Given the description of an element on the screen output the (x, y) to click on. 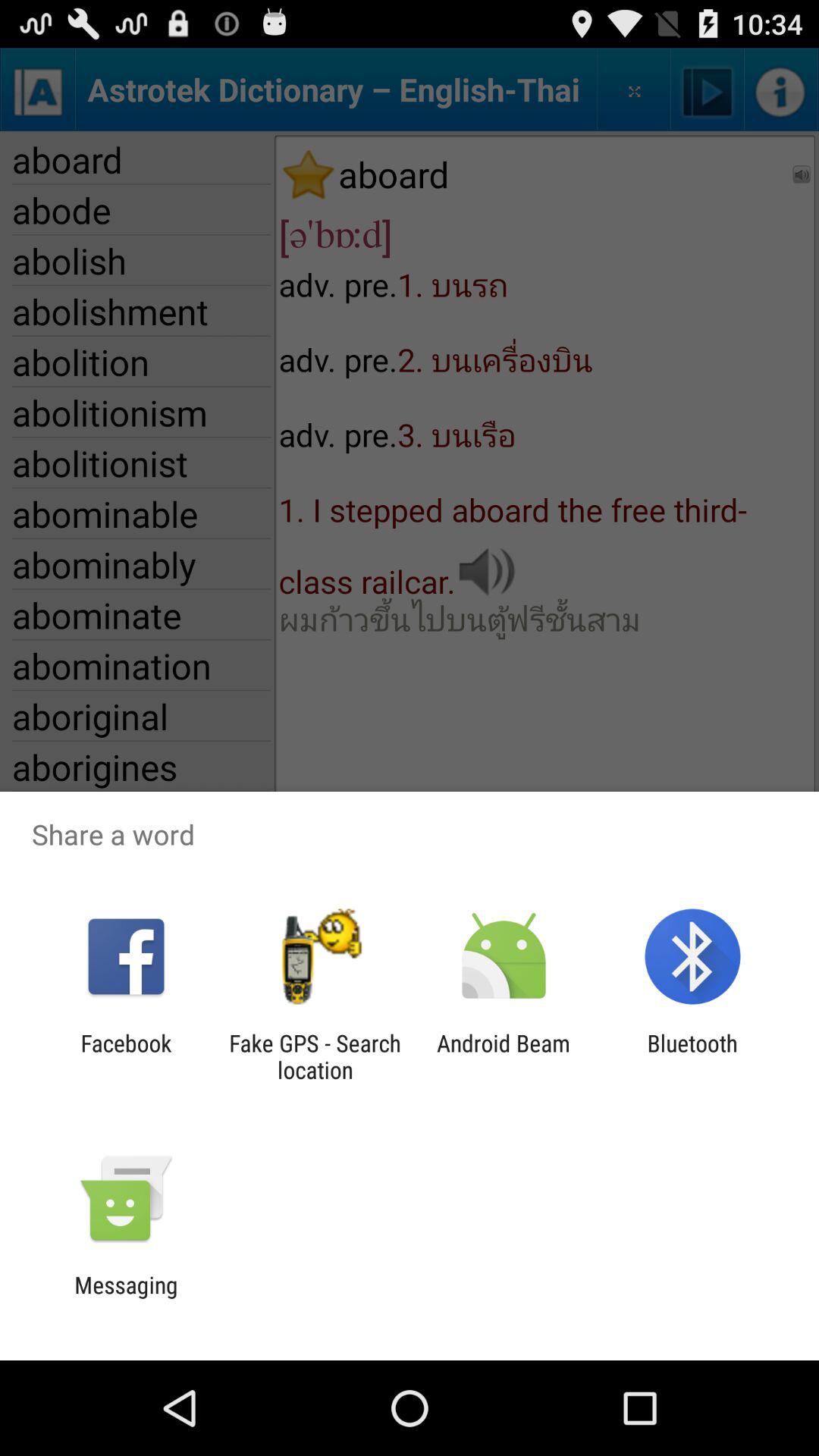
scroll until the bluetooth app (692, 1056)
